Given the description of an element on the screen output the (x, y) to click on. 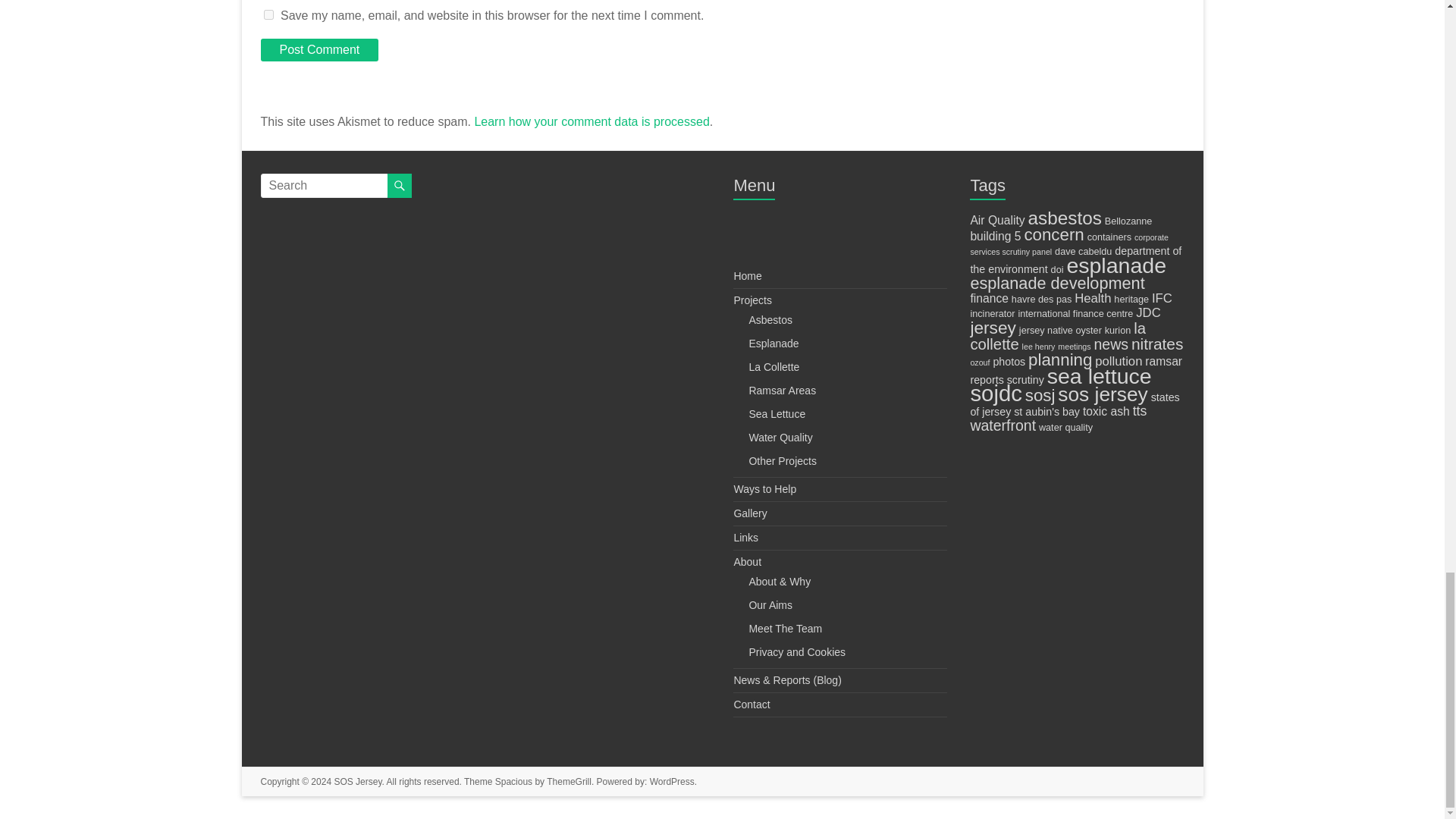
SOS Jersey (357, 781)
yes (268, 14)
Spacious (513, 781)
Post Comment (319, 49)
WordPress (671, 781)
